Given the description of an element on the screen output the (x, y) to click on. 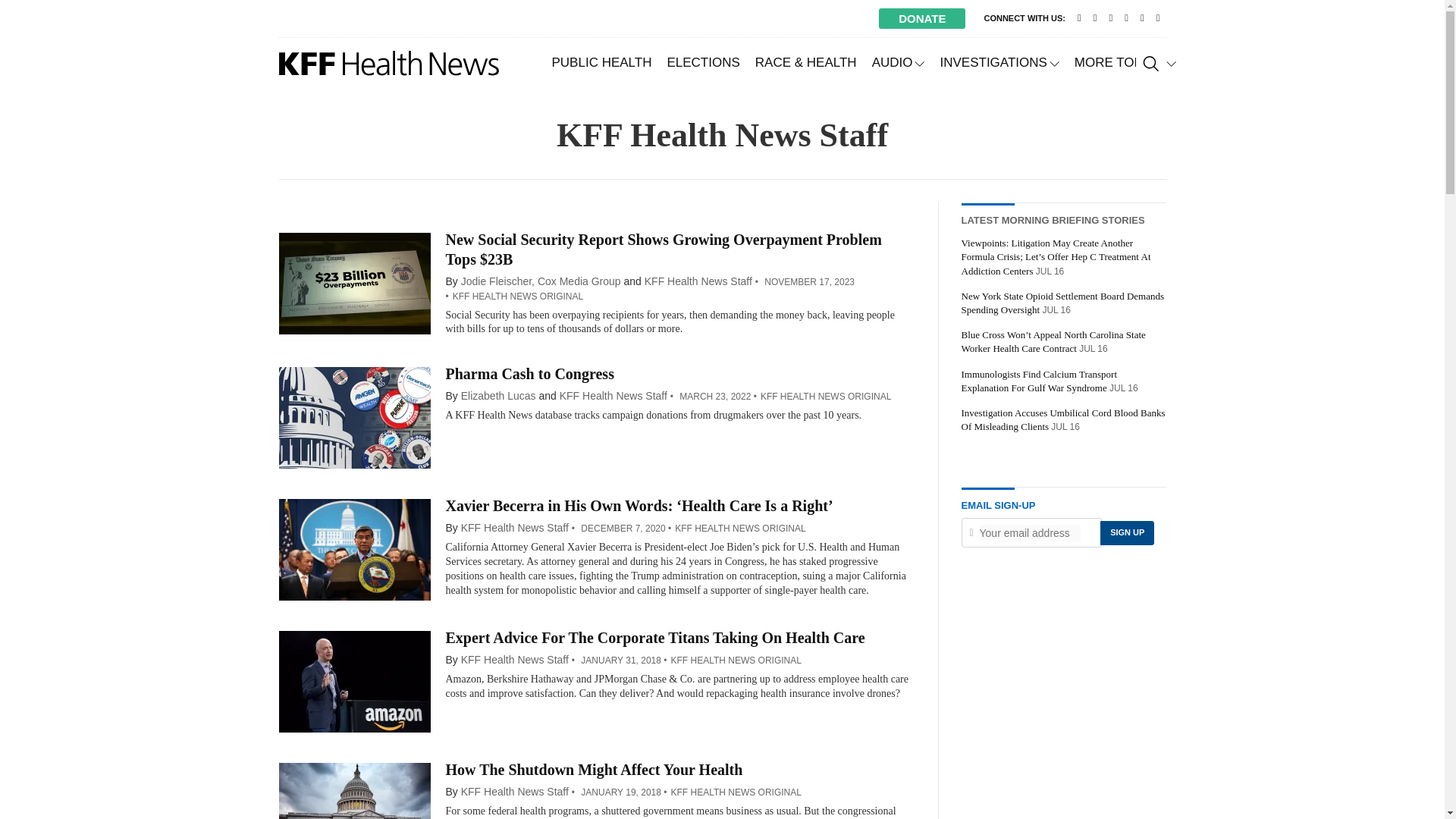
Permalink to Pharma Cash to Congress (529, 373)
Facebook (1110, 18)
Twitter (1095, 18)
Instagram (1142, 18)
Contact (1079, 18)
Instagram (1142, 18)
Twitter (1095, 18)
Permalink to How The Shutdown Might Affect Your Health (593, 769)
INVESTIGATIONS (998, 61)
KFF Health News (389, 63)
LinkedIn (1126, 18)
RSS (1158, 18)
AUDIO (898, 61)
